Given the description of an element on the screen output the (x, y) to click on. 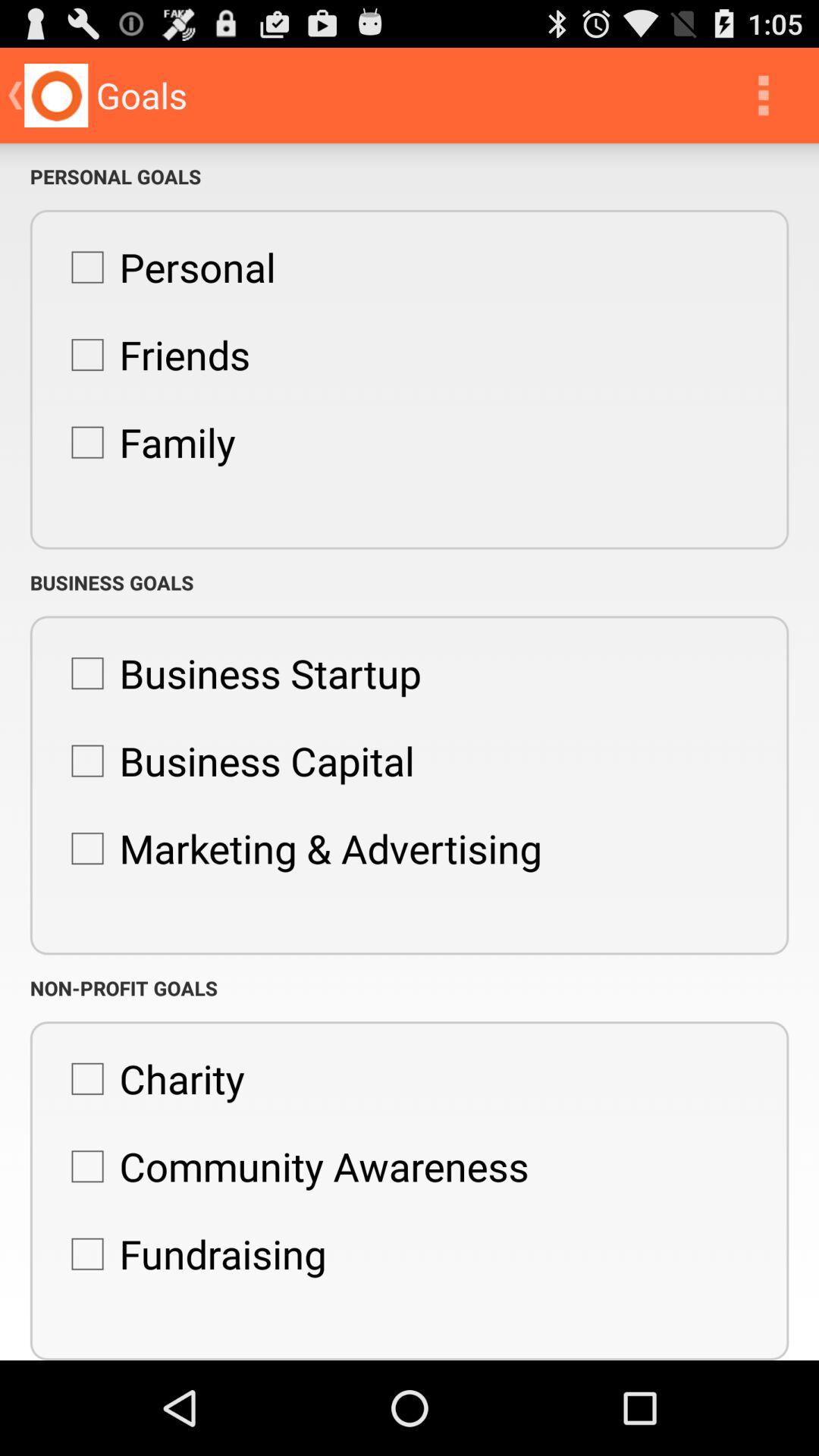
select item below the business capital (298, 848)
